Given the description of an element on the screen output the (x, y) to click on. 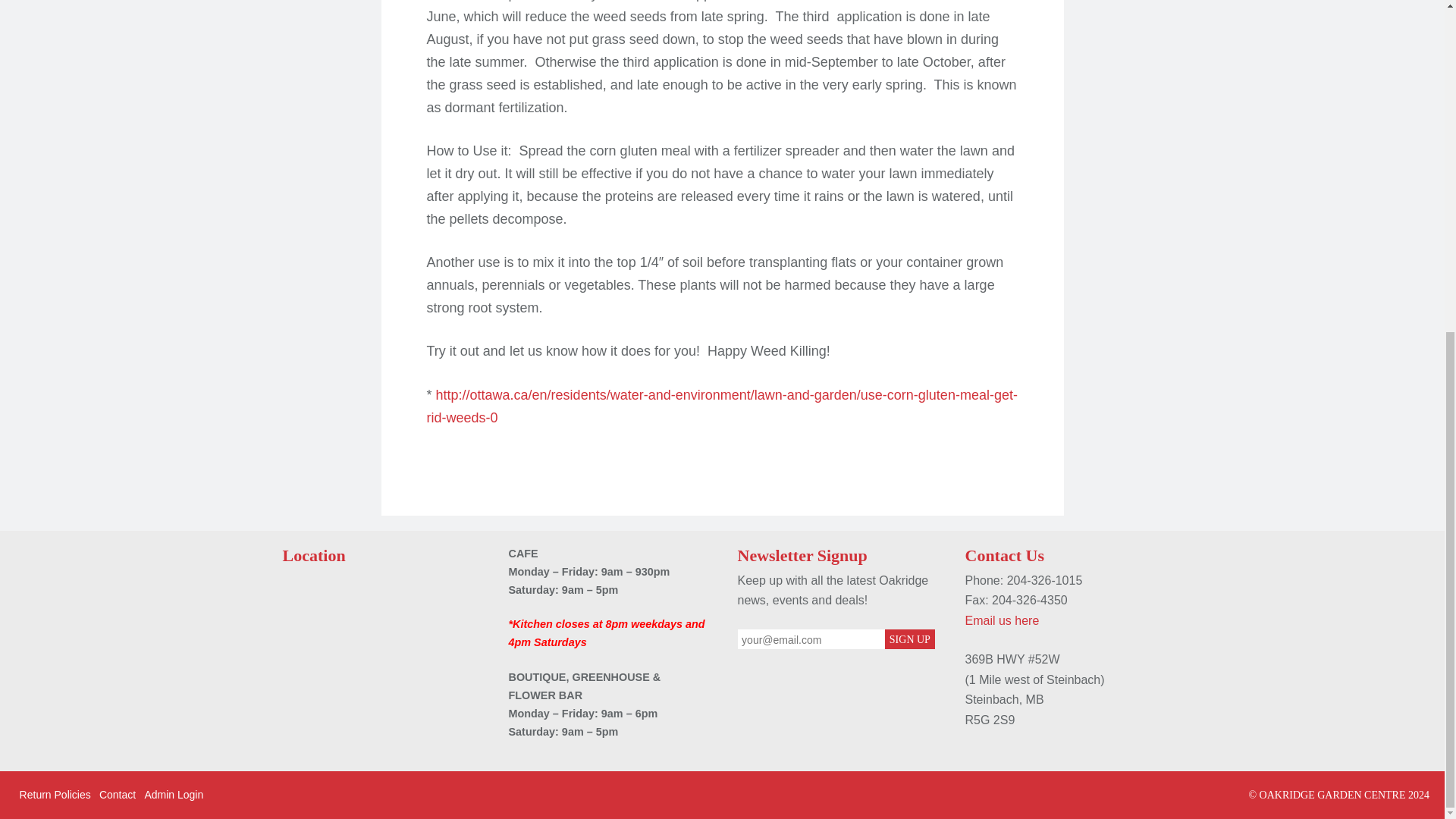
Contact (117, 794)
Email us here (1001, 620)
Return Policies (55, 794)
Admin Login (173, 794)
SIGN UP (909, 639)
